Given the description of an element on the screen output the (x, y) to click on. 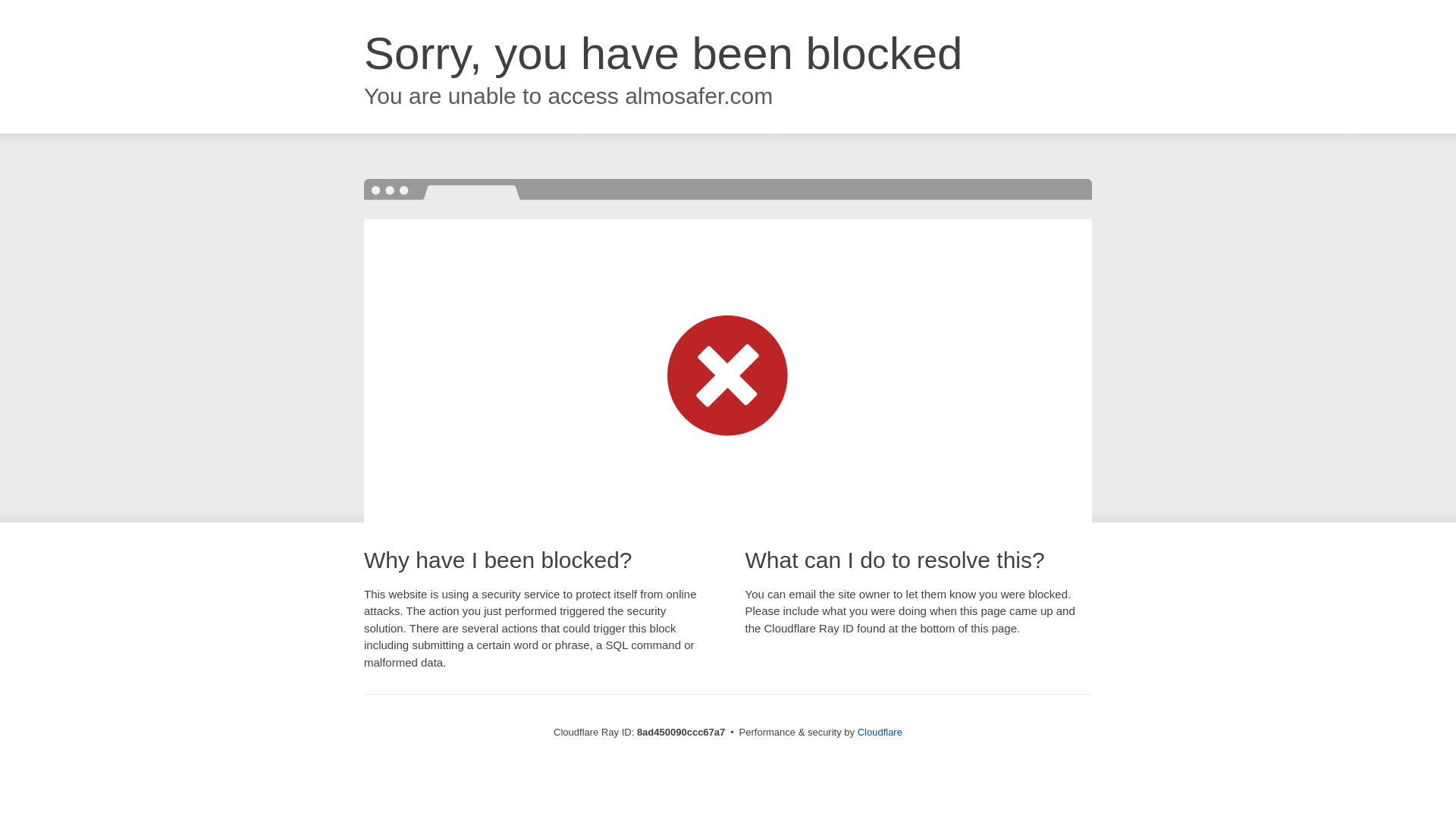
Cloudflare (879, 731)
